Given the description of an element on the screen output the (x, y) to click on. 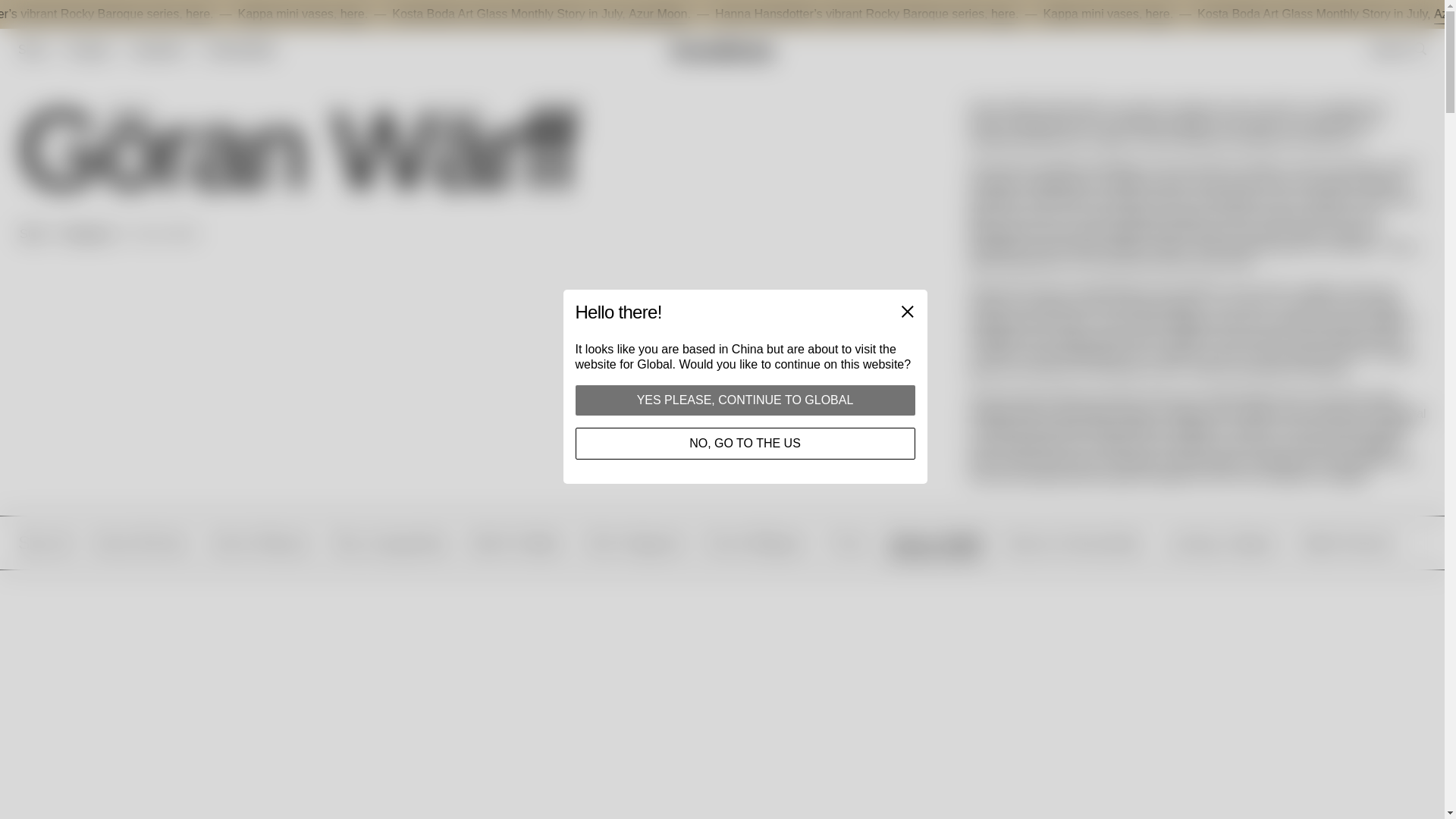
here (439, 14)
Inspiration (158, 49)
here (285, 14)
here (1242, 14)
Azur Moon (745, 14)
Sustainability (239, 49)
Shop (31, 49)
NO, GO TO THE US (744, 443)
Art glass (88, 49)
here (1088, 14)
YES PLEASE, CONTINUE TO GLOBAL (744, 399)
